Given the description of an element on the screen output the (x, y) to click on. 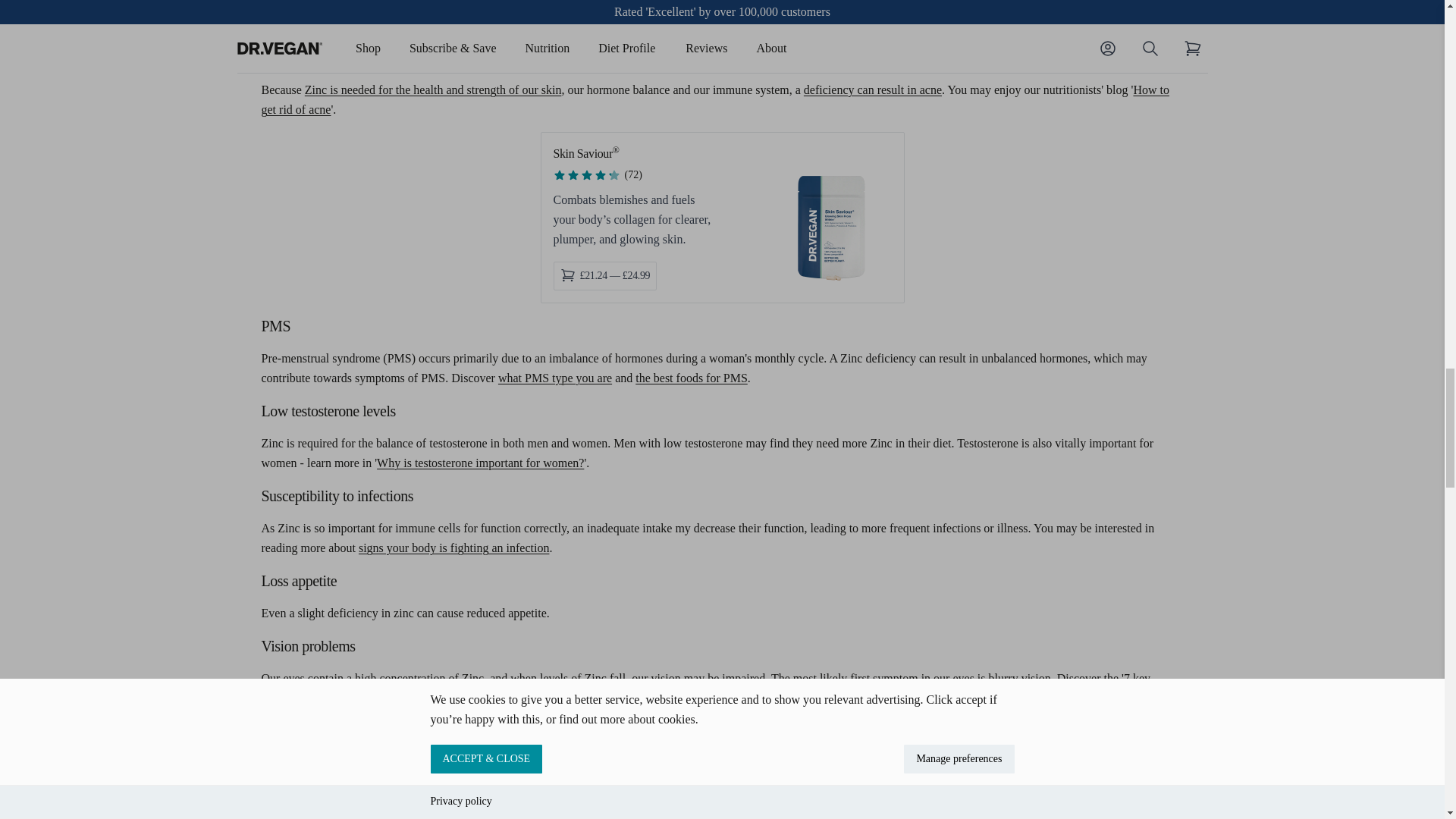
how to get rid of acne (714, 99)
a zinc deficiency can result in acne (872, 89)
best diet for pms (691, 377)
pms type (554, 377)
signs your body is fighting an infection (454, 547)
testosterone for women (480, 462)
Zinc is needed for the health and strength of our skin (433, 89)
nutrients for eye health (705, 687)
